Given the description of an element on the screen output the (x, y) to click on. 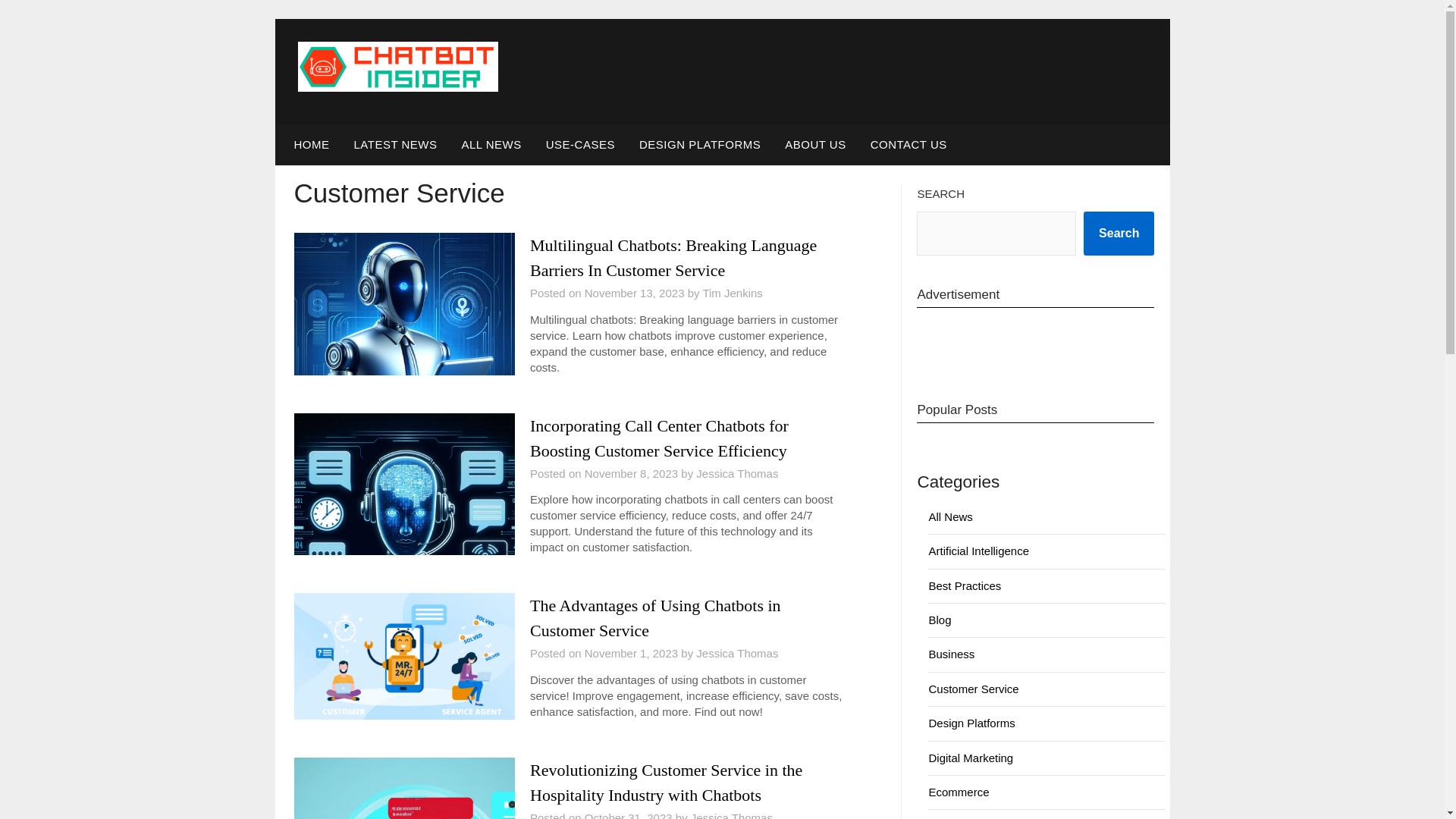
November 13, 2023 (634, 292)
November 1, 2023 (631, 653)
The Advantages of Using Chatbots in Customer Service (654, 617)
DESIGN PLATFORMS (700, 144)
Jessica Thomas (731, 815)
October 31, 2023 (628, 815)
Tim Jenkins (731, 292)
ALL NEWS (490, 144)
ABOUT US (815, 144)
November 8, 2023 (631, 472)
USE-CASES (580, 144)
All News (950, 516)
